Given the description of an element on the screen output the (x, y) to click on. 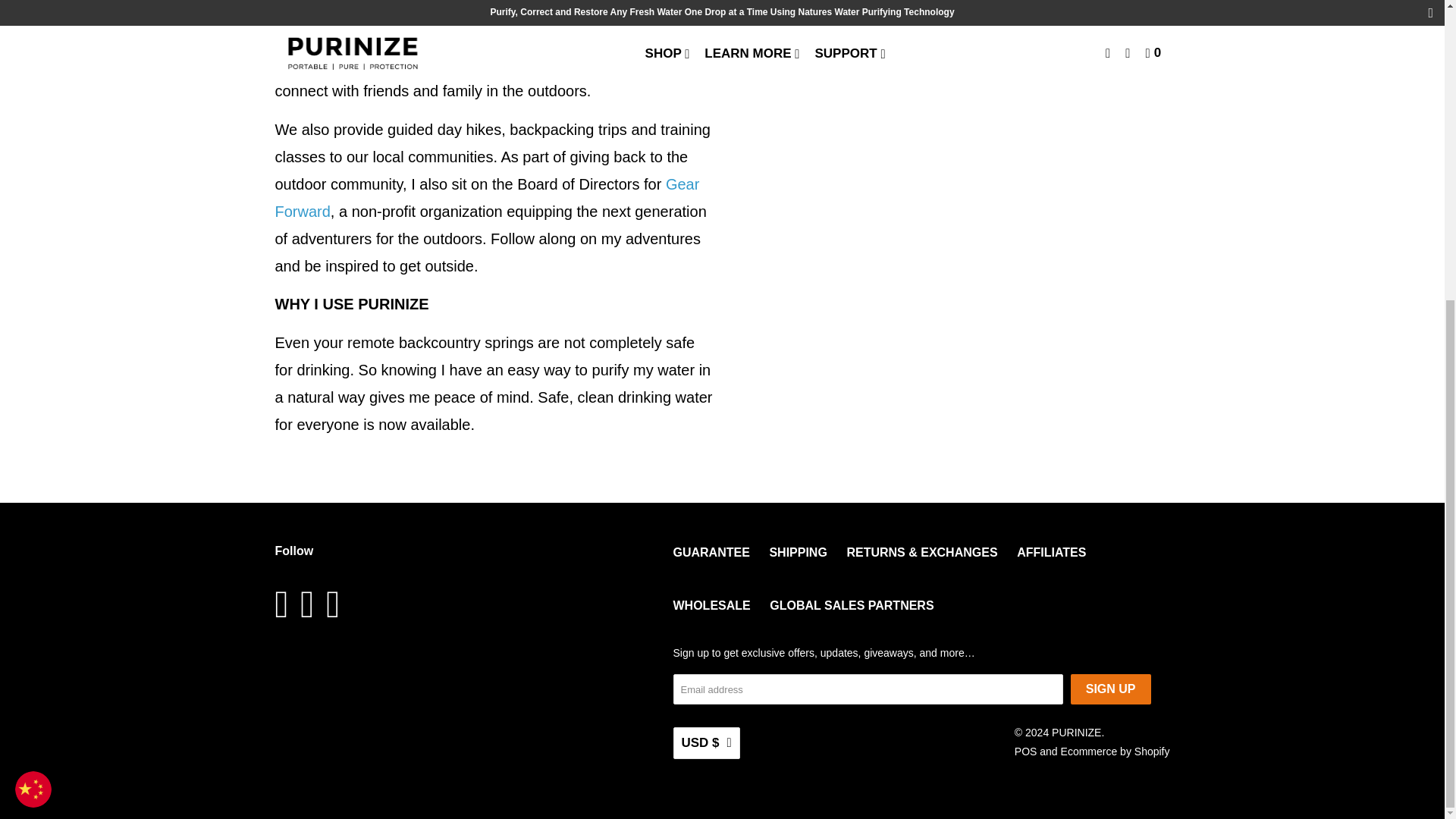
Gear Forward (486, 198)
Sign Up (1110, 689)
Hike By Faith (375, 36)
